Given the description of an element on the screen output the (x, y) to click on. 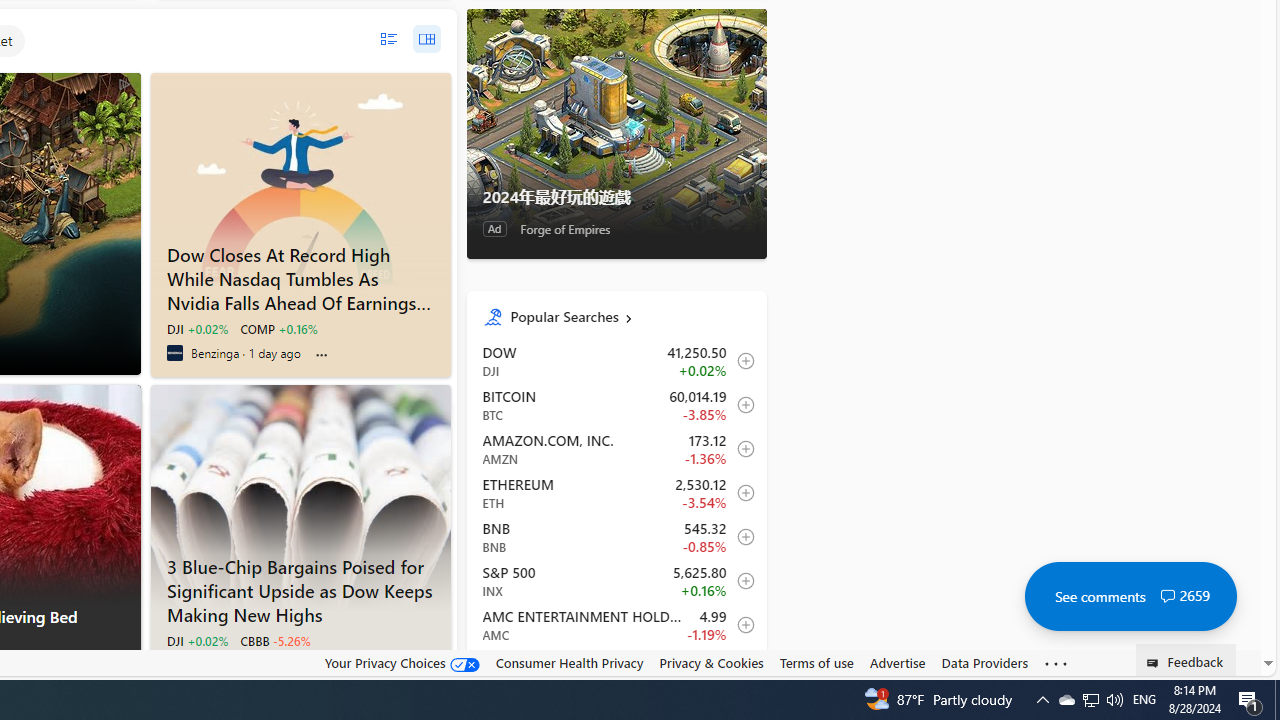
Privacy & Cookies (711, 663)
